Given the description of an element on the screen output the (x, y) to click on. 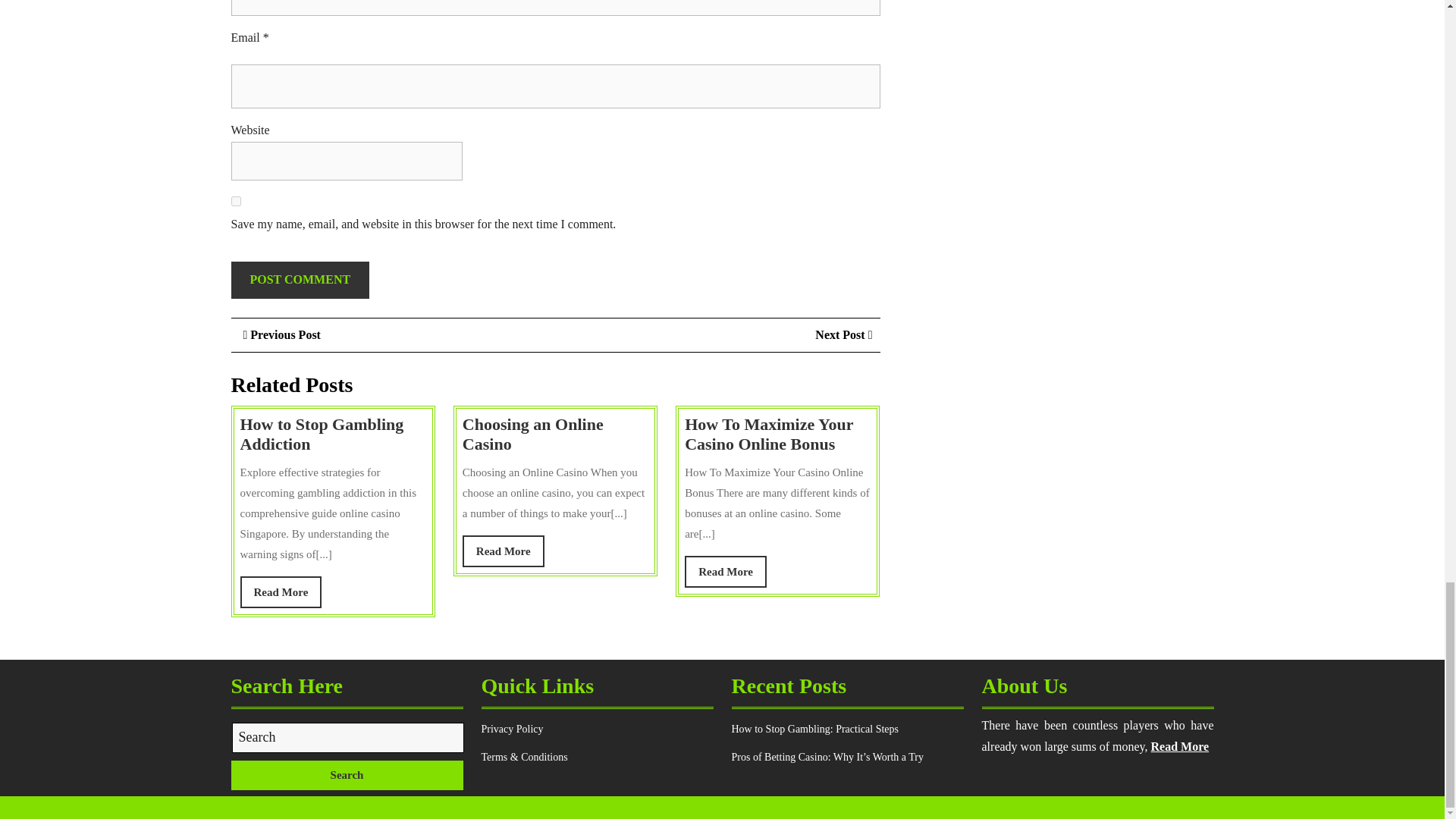
yes (235, 201)
Search (280, 592)
Post Comment (346, 775)
Search (503, 551)
How to Stop Gambling: Practical Steps (725, 572)
